Given the description of an element on the screen output the (x, y) to click on. 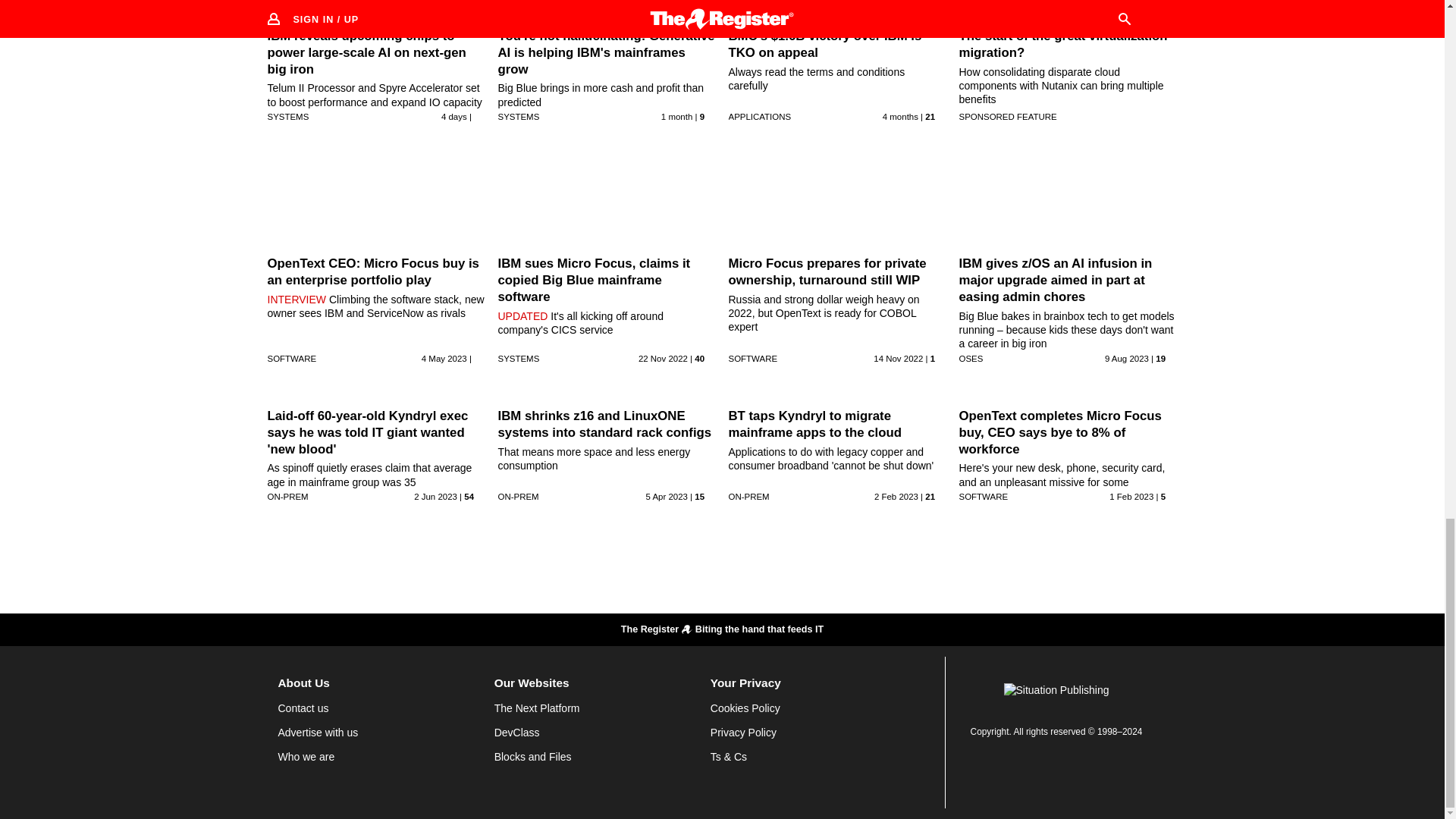
25 Jul 2024 6:33 (677, 116)
14 Nov 2022 15:45 (898, 358)
9 Aug 2023 5:30 (1126, 358)
4 May 2023 8:58 (444, 358)
22 Nov 2022 13:57 (663, 358)
27 Aug 2024 16:56 (454, 116)
1 May 2024 18:29 (900, 116)
2 Jun 2023 10:59 (435, 496)
5 Apr 2023 10:34 (666, 496)
